Given the description of an element on the screen output the (x, y) to click on. 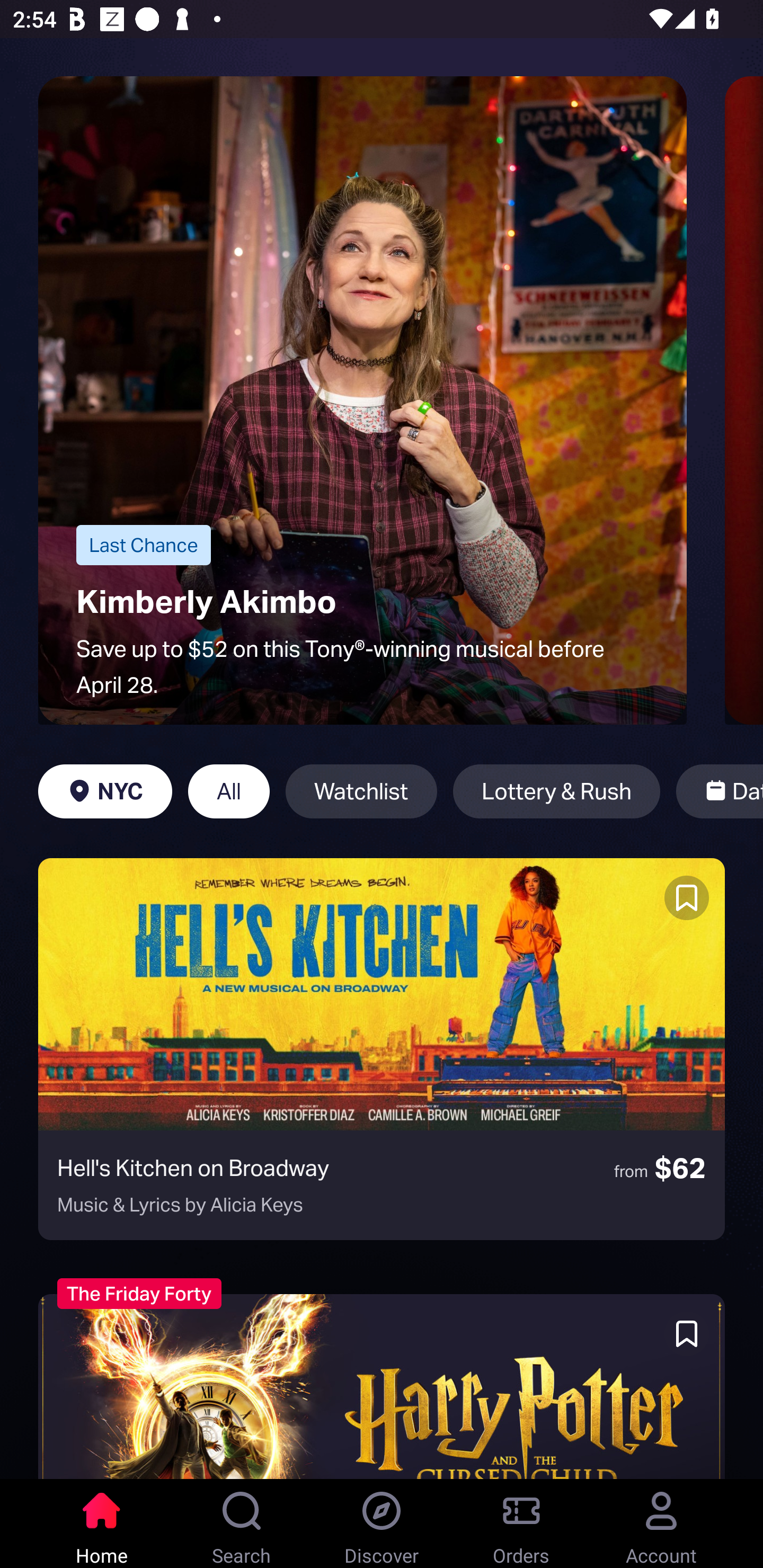
NYC (105, 791)
All (228, 791)
Watchlist (361, 791)
Lottery & Rush (556, 791)
Search (241, 1523)
Discover (381, 1523)
Orders (521, 1523)
Account (660, 1523)
